Given the description of an element on the screen output the (x, y) to click on. 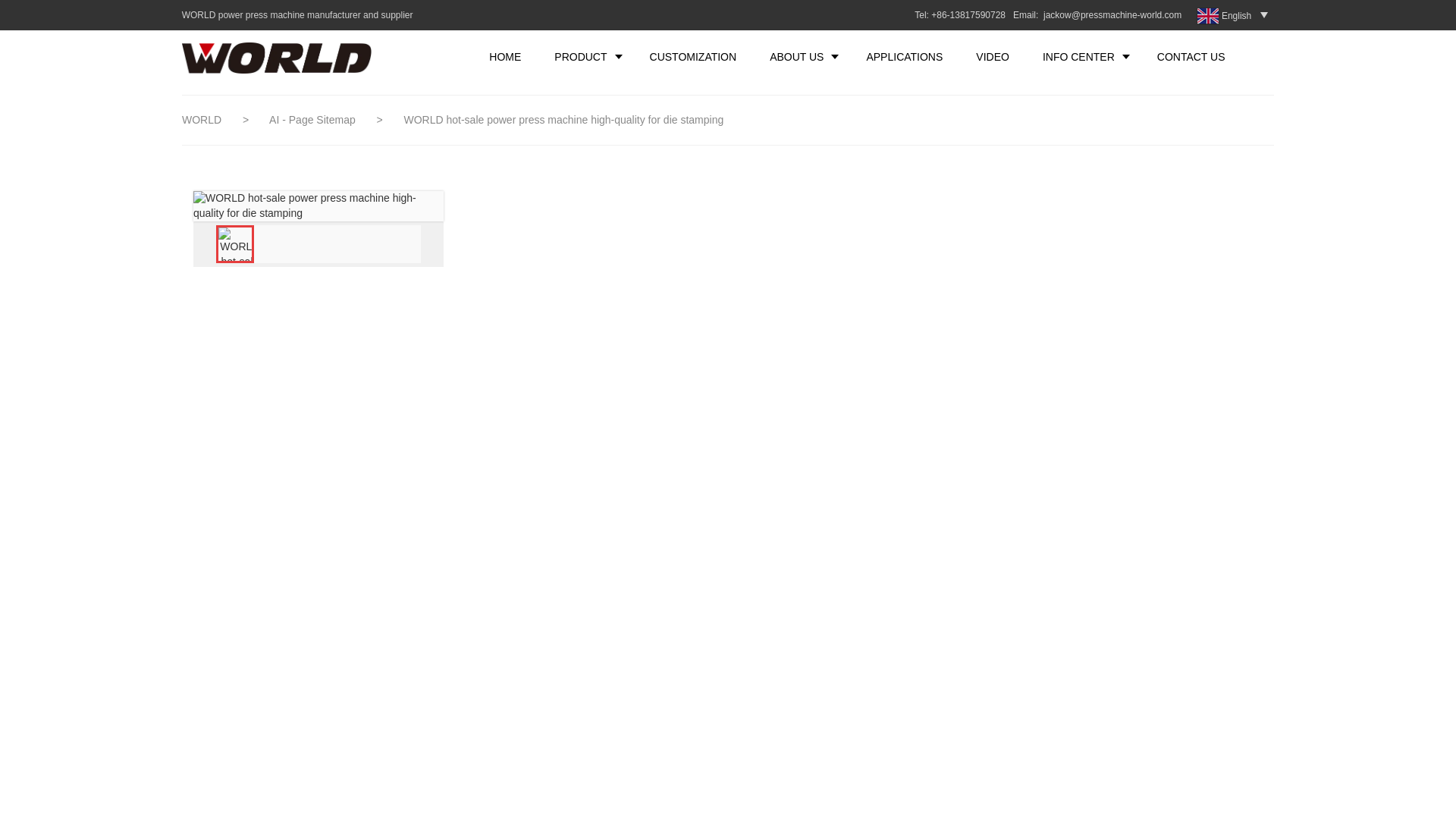
CUSTOMIZATION (693, 56)
APPLICATIONS (903, 56)
CONTACT US (1190, 56)
AI - Page Sitemap (313, 119)
WORLD (201, 119)
PRODUCT (584, 56)
INFO CENTER (1083, 56)
HOME (504, 56)
VIDEO (992, 56)
ABOUT US (800, 56)
